Given the description of an element on the screen output the (x, y) to click on. 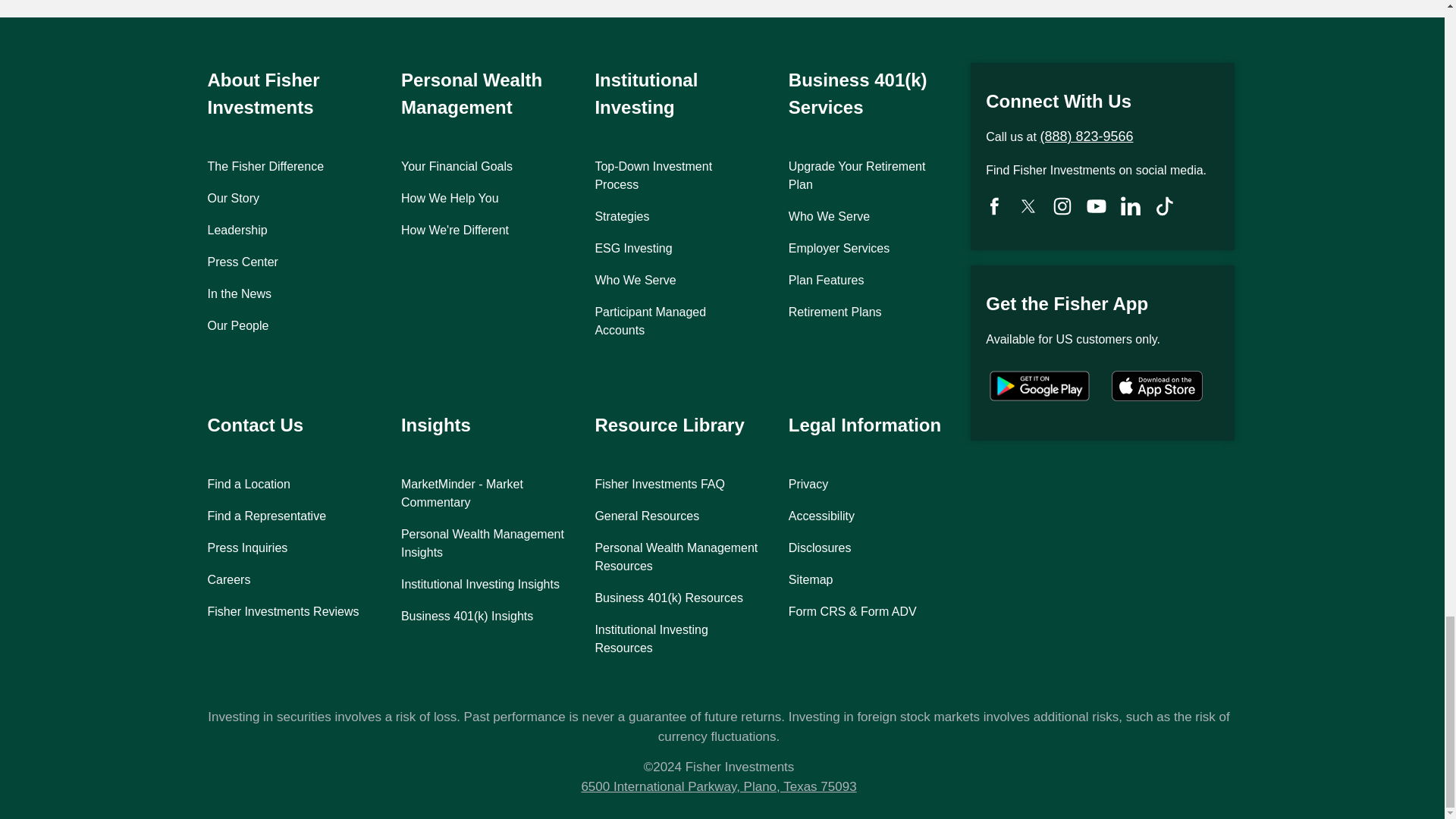
Download the app on Apple store (1157, 387)
Follow us on TikTok (1062, 207)
Follow us on TikTok (1164, 207)
Follow us on LinkedIn (1130, 207)
Follow us on Twitter (1027, 207)
Download from Google Play (1039, 386)
Follow us on Youtube (1096, 207)
Follow us on Facebook (994, 207)
